Given the description of an element on the screen output the (x, y) to click on. 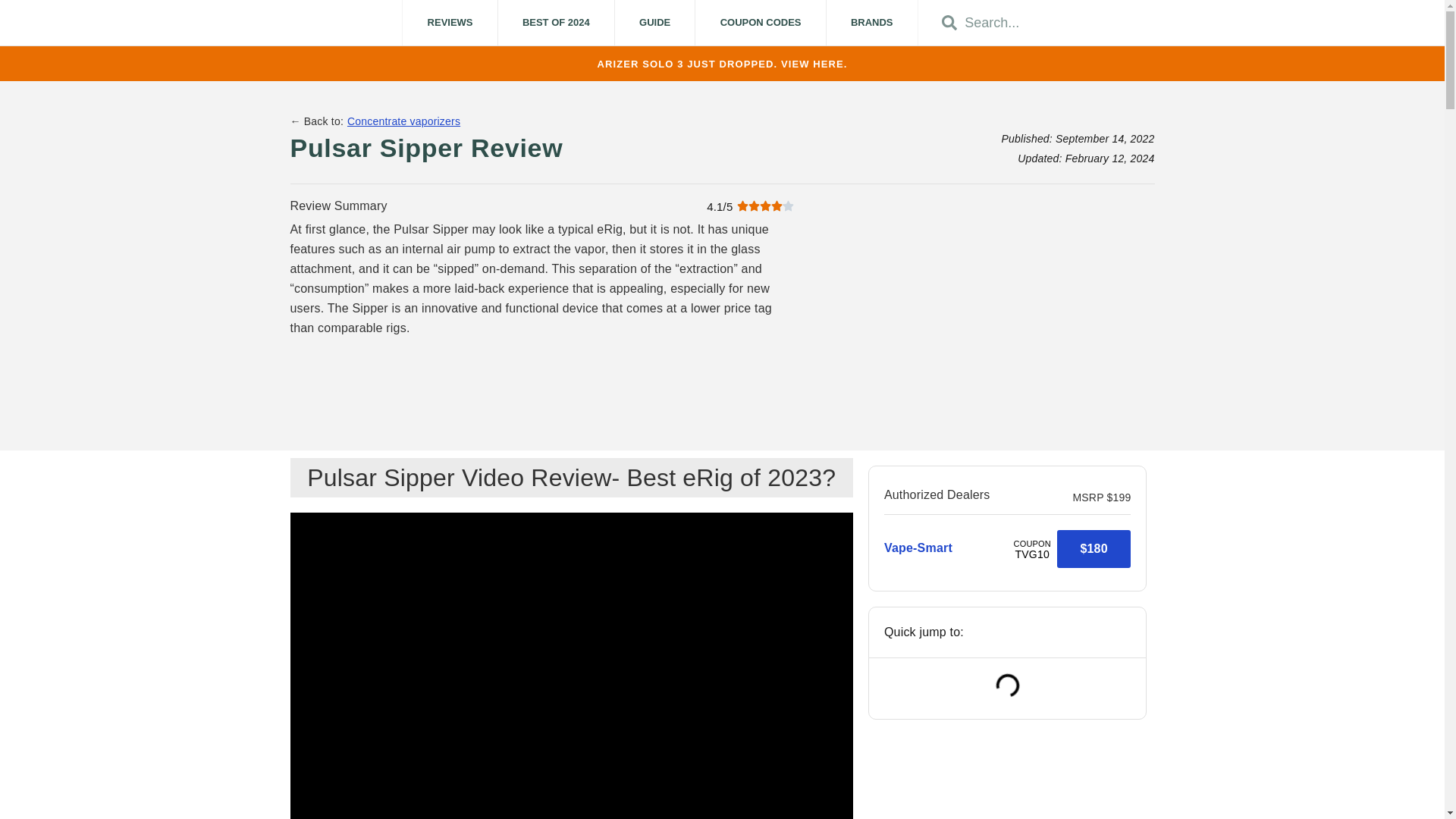
GUIDE (654, 22)
BEST OF 2024 (555, 22)
Pulsar-Sipper-review-12 (989, 309)
BRANDS (872, 22)
COUPON CODES (760, 22)
REVIEWS (449, 22)
